Given the description of an element on the screen output the (x, y) to click on. 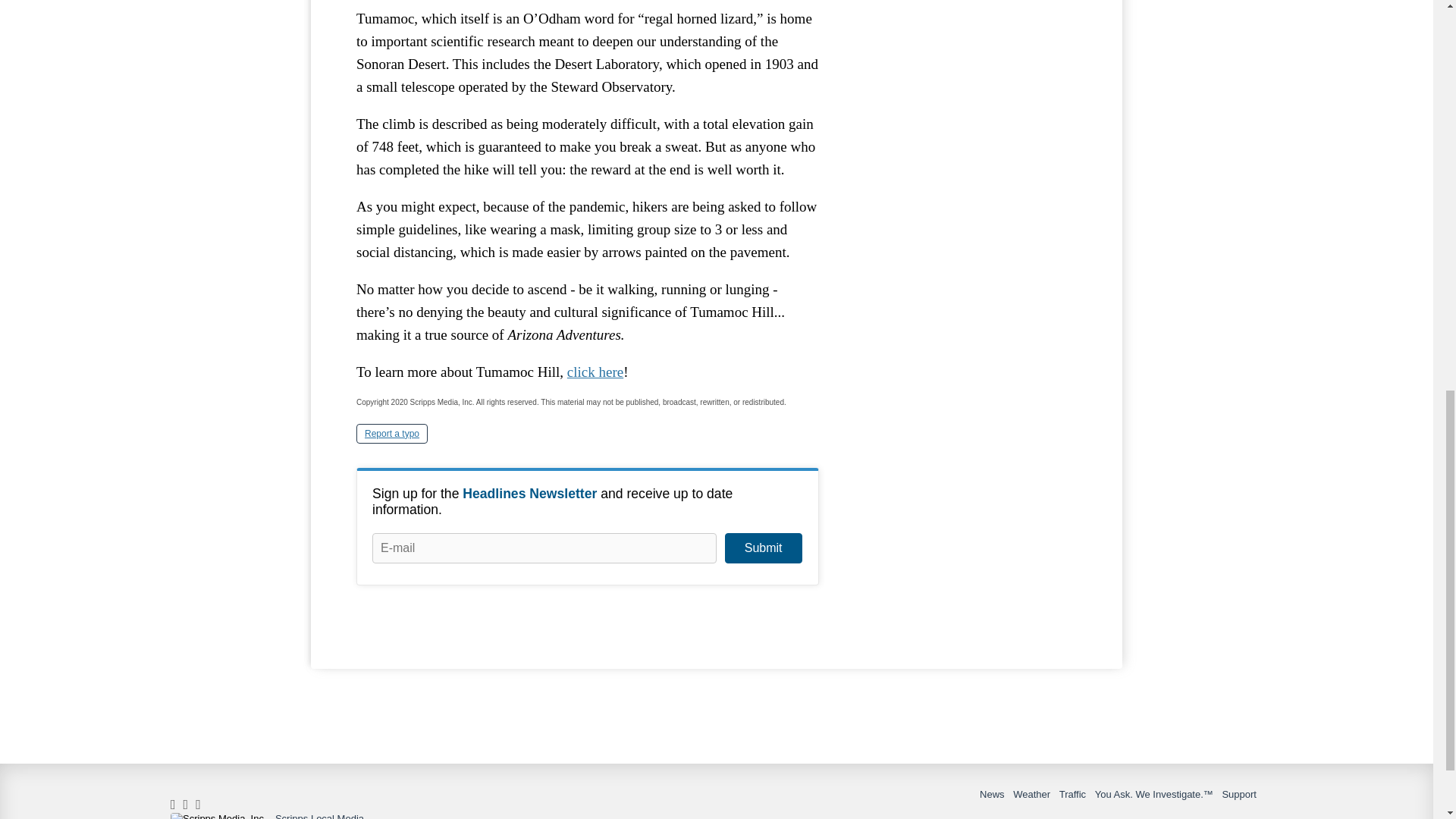
Submit (763, 548)
